Given the description of an element on the screen output the (x, y) to click on. 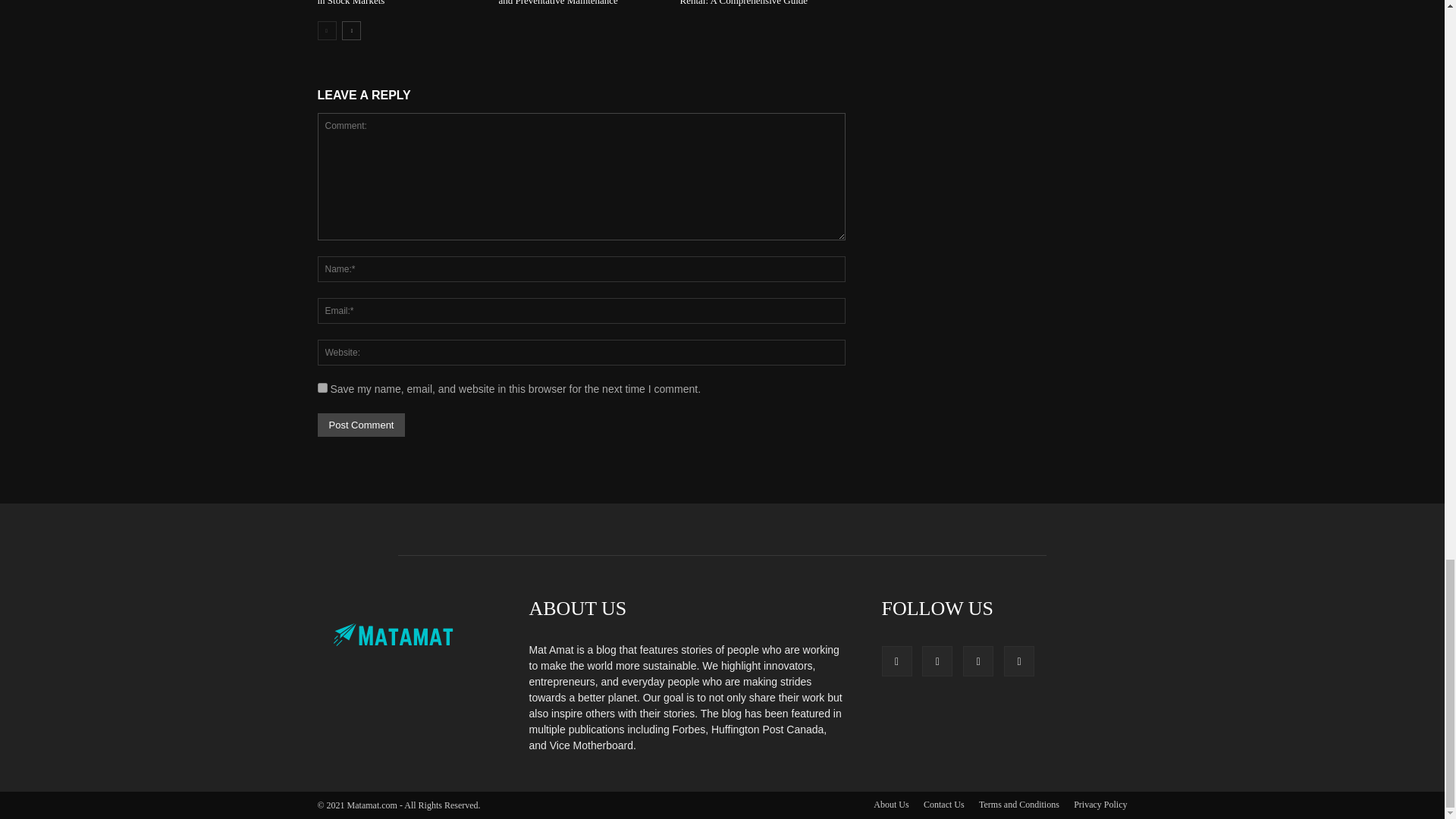
Stock Market Jobs: Kickstart Your Career in Stock Markets (399, 2)
yes (321, 388)
Post Comment (360, 424)
